Given the description of an element on the screen output the (x, y) to click on. 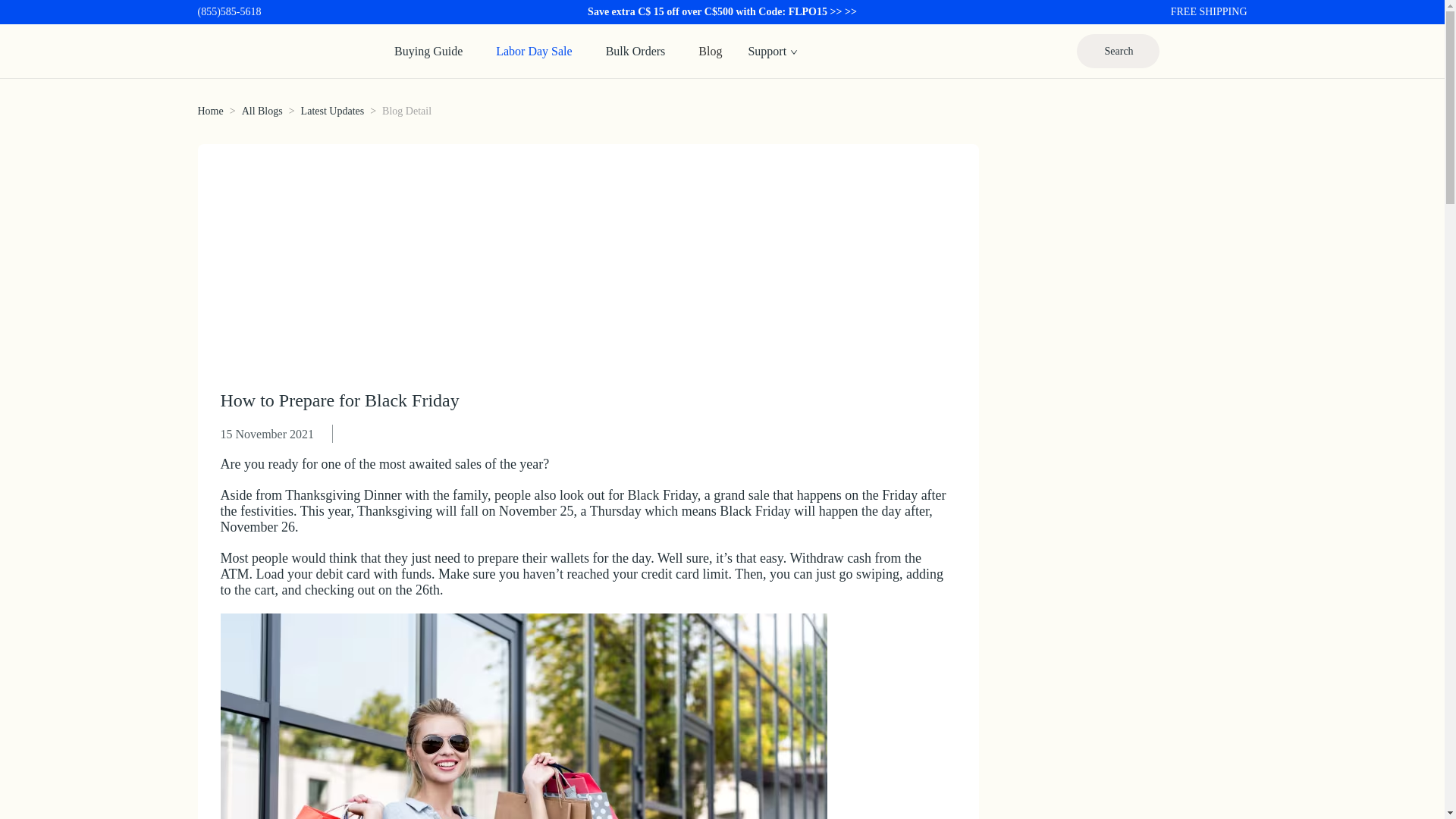
Latest Updates (333, 111)
Labor Day Sale (533, 50)
Buying Guide (428, 50)
All Blogs (261, 111)
Blog (709, 50)
Home (209, 111)
Bulk Orders (635, 50)
